Given the description of an element on the screen output the (x, y) to click on. 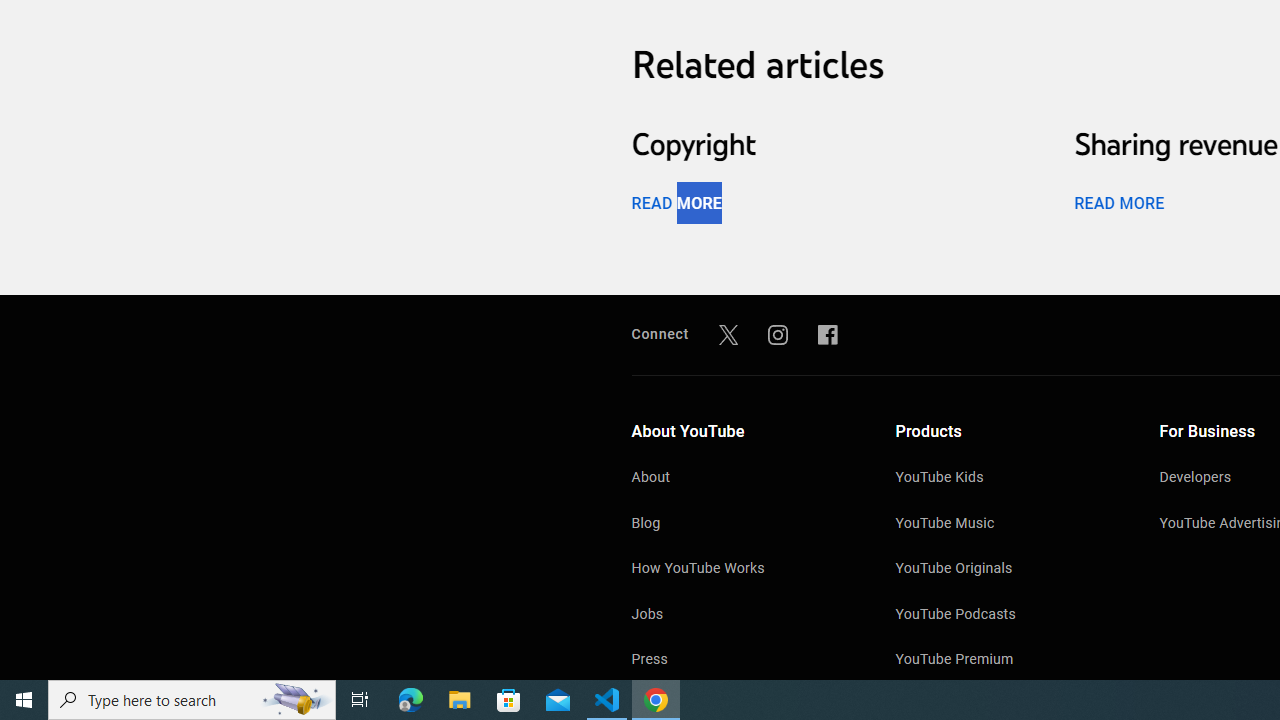
Facebook (828, 334)
